Given the description of an element on the screen output the (x, y) to click on. 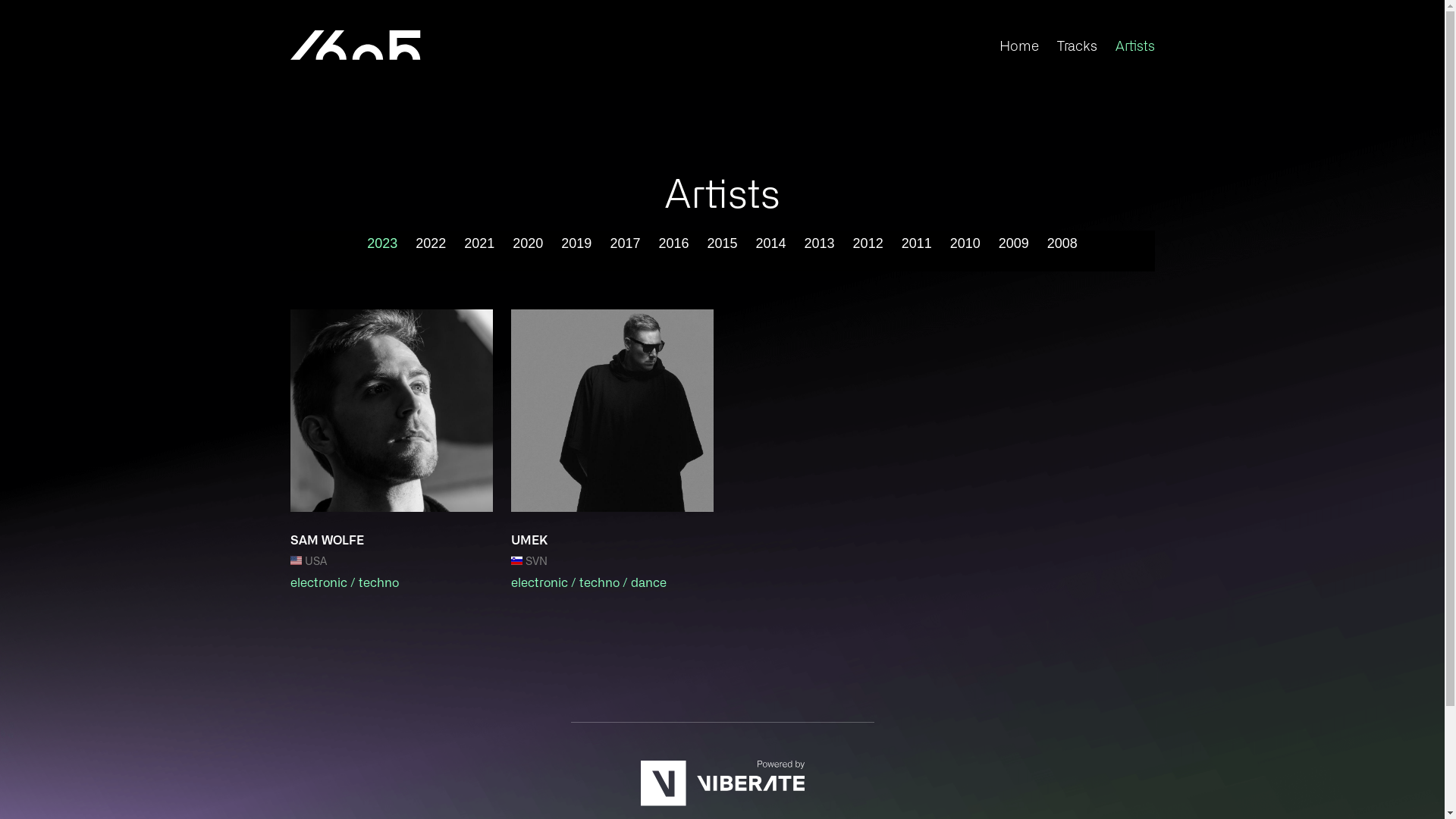
2023 Element type: text (382, 243)
2013 Element type: text (819, 243)
2011 Element type: text (916, 243)
2014 Element type: text (771, 243)
2017 Element type: text (624, 243)
1605 Element type: text (354, 44)
2020 Element type: text (527, 243)
2012 Element type: text (868, 243)
Tracks Element type: text (1077, 44)
2019 Element type: text (576, 243)
Home Element type: text (1018, 44)
2021 Element type: text (479, 243)
UMEK
SVN
electronic / techno / dance Element type: text (612, 449)
2015 Element type: text (721, 243)
2009 Element type: text (1013, 243)
2010 Element type: text (965, 243)
Powered by Viberate Element type: hover (721, 801)
2016 Element type: text (673, 243)
Artists Element type: text (1134, 44)
2022 Element type: text (430, 243)
SAM WOLFE
USA
electronic / techno Element type: text (390, 449)
2008 Element type: text (1062, 243)
